Given the description of an element on the screen output the (x, y) to click on. 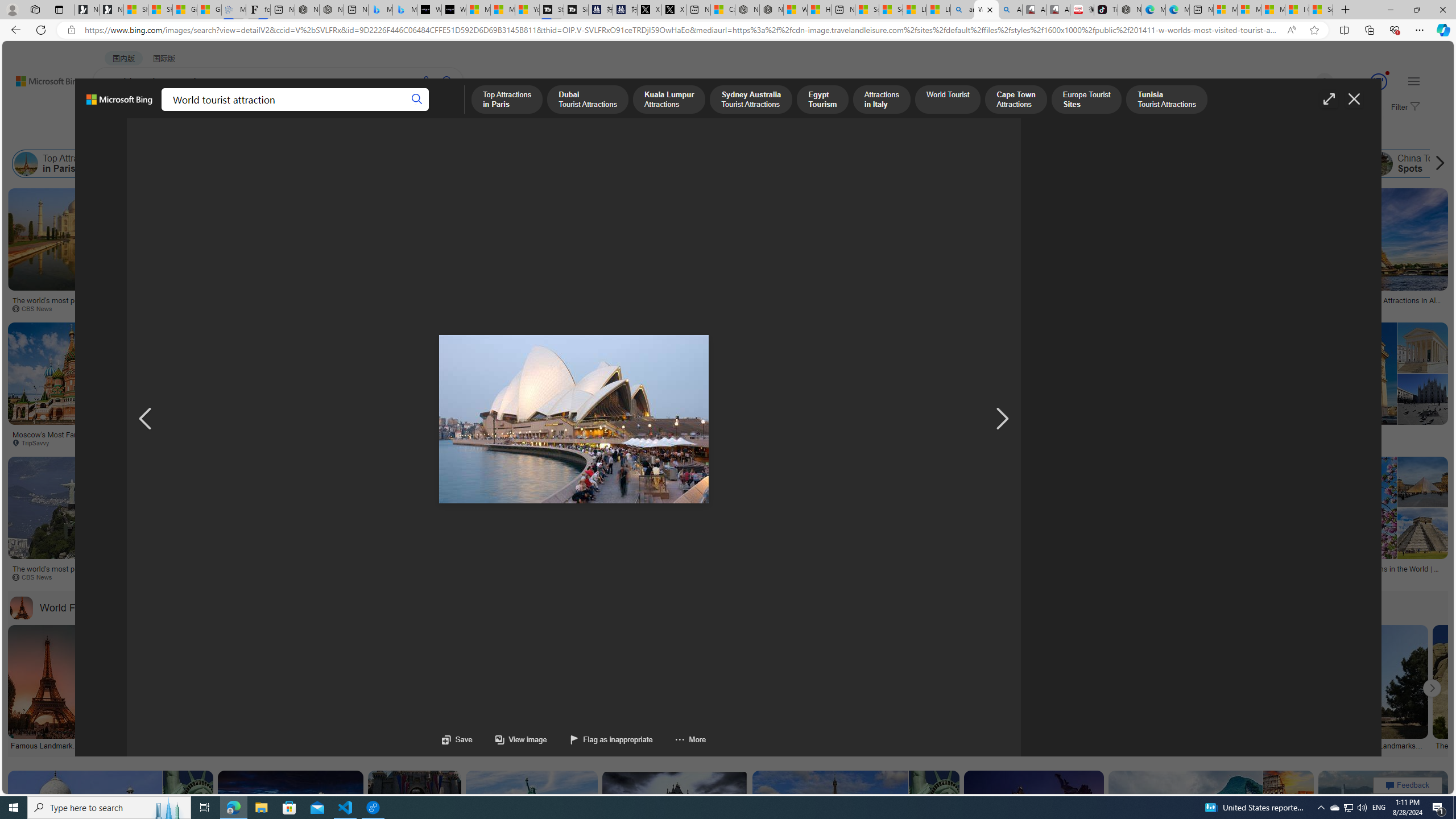
World Tourist (715, 163)
Canada's Best Attractions and Destinations (552, 568)
travelandleisure.com (1193, 576)
inf-inet.com (1055, 308)
Famous Tourist Spot In France (1314, 434)
Save (457, 739)
WEB (114, 111)
Full screen (1328, 99)
familyvacationist.com (298, 442)
ACADEMIC (311, 111)
Attractions in Italy (590, 163)
